Given the description of an element on the screen output the (x, y) to click on. 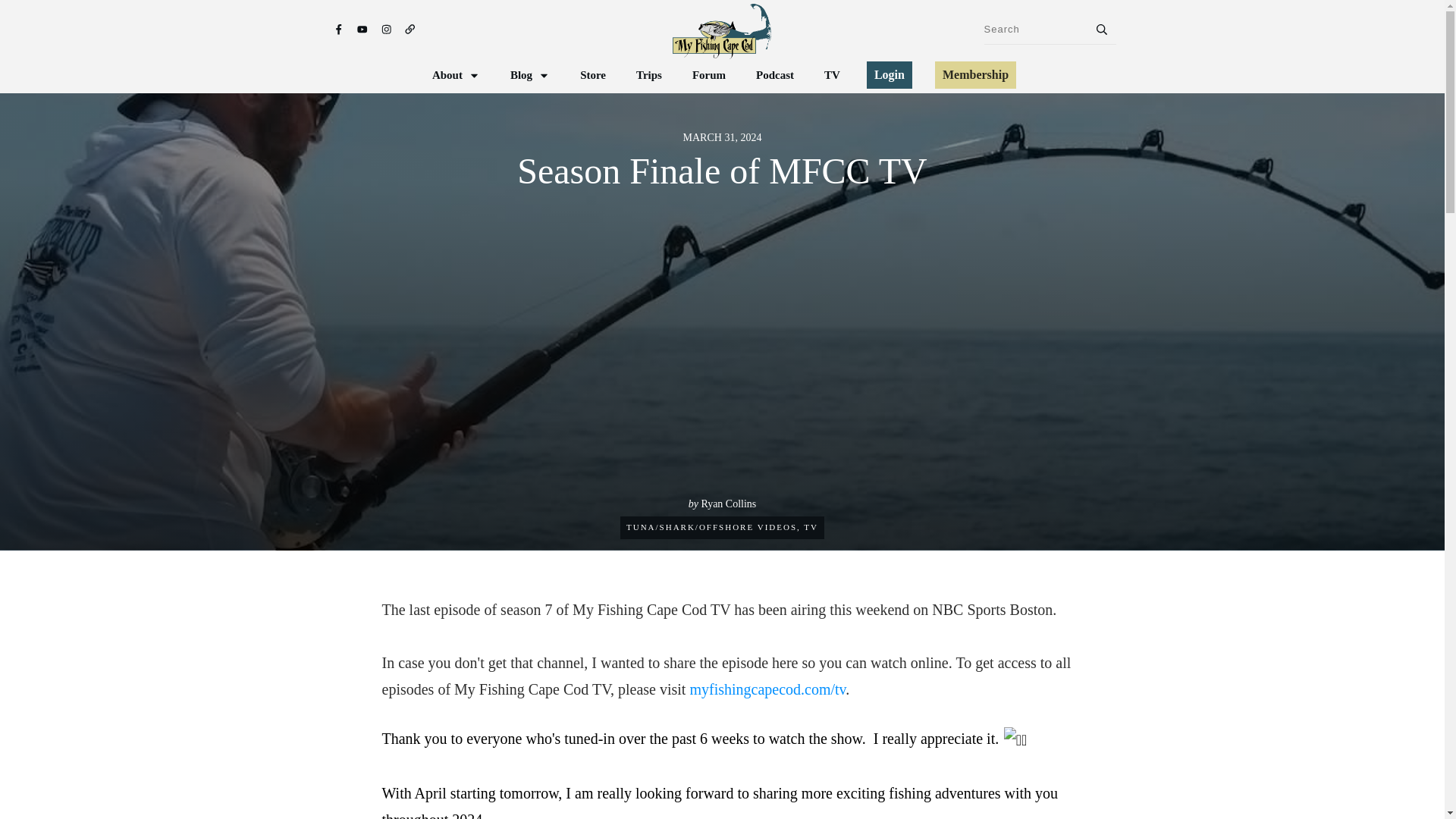
Membership (975, 74)
Podcast (774, 74)
About (456, 74)
Login (889, 74)
Blog (530, 74)
TV (810, 526)
Store (592, 74)
Trips (649, 74)
Forum (709, 74)
